Given the description of an element on the screen output the (x, y) to click on. 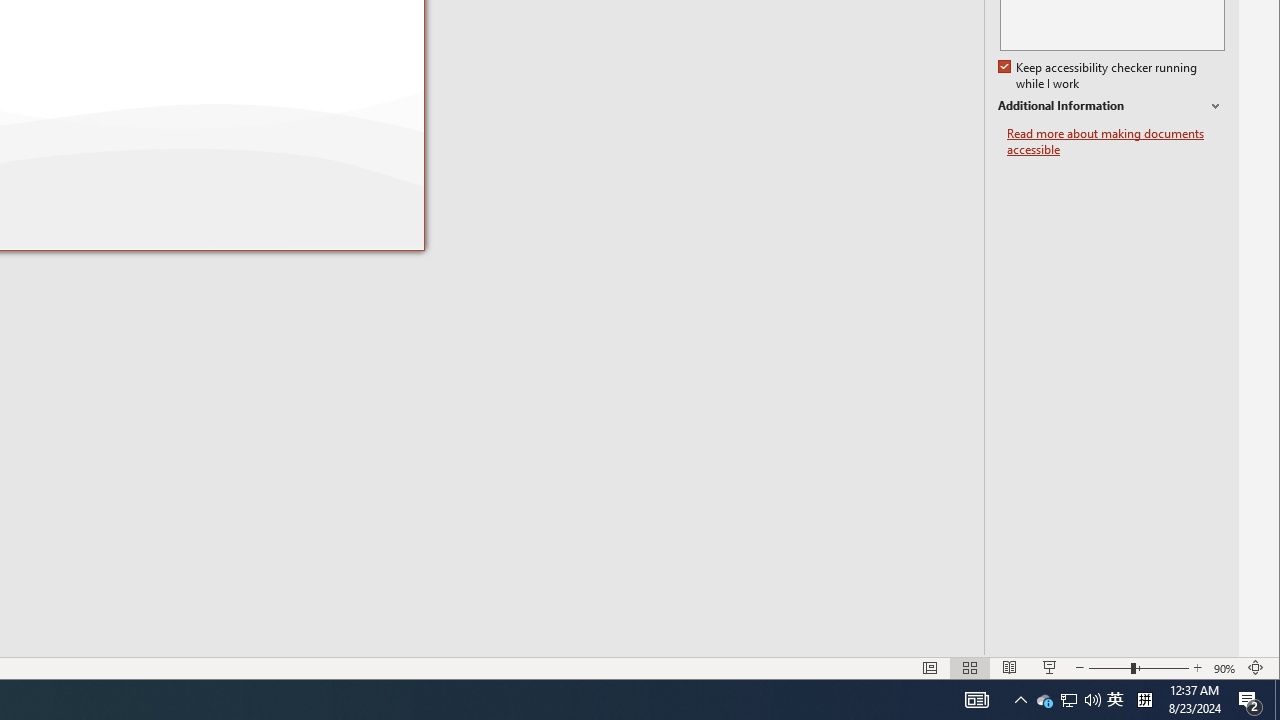
Zoom 90% (1225, 668)
